Given the description of an element on the screen output the (x, y) to click on. 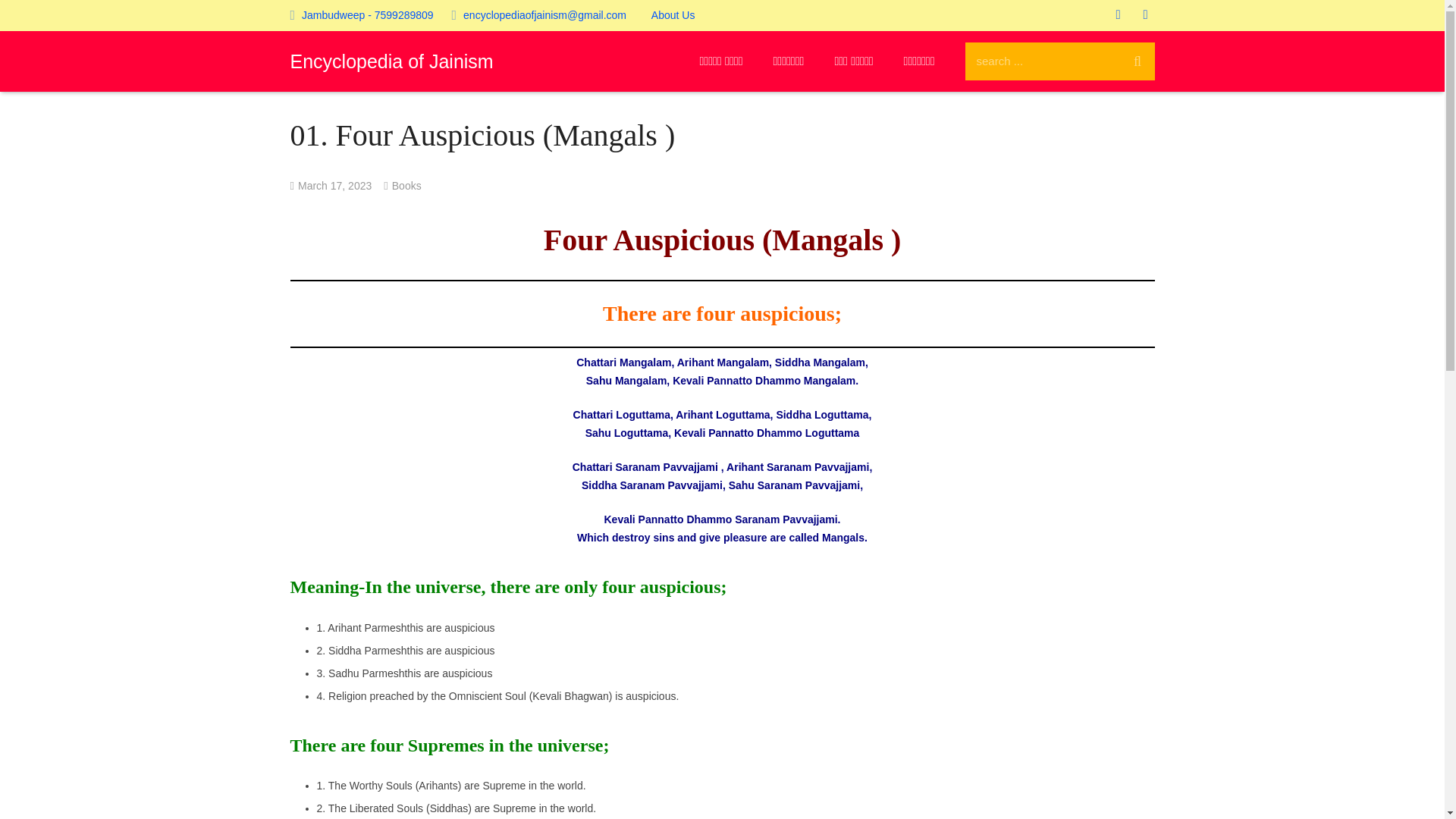
About Us (672, 15)
Encyclopedia of Jainism (391, 61)
Books (406, 185)
